Given the description of an element on the screen output the (x, y) to click on. 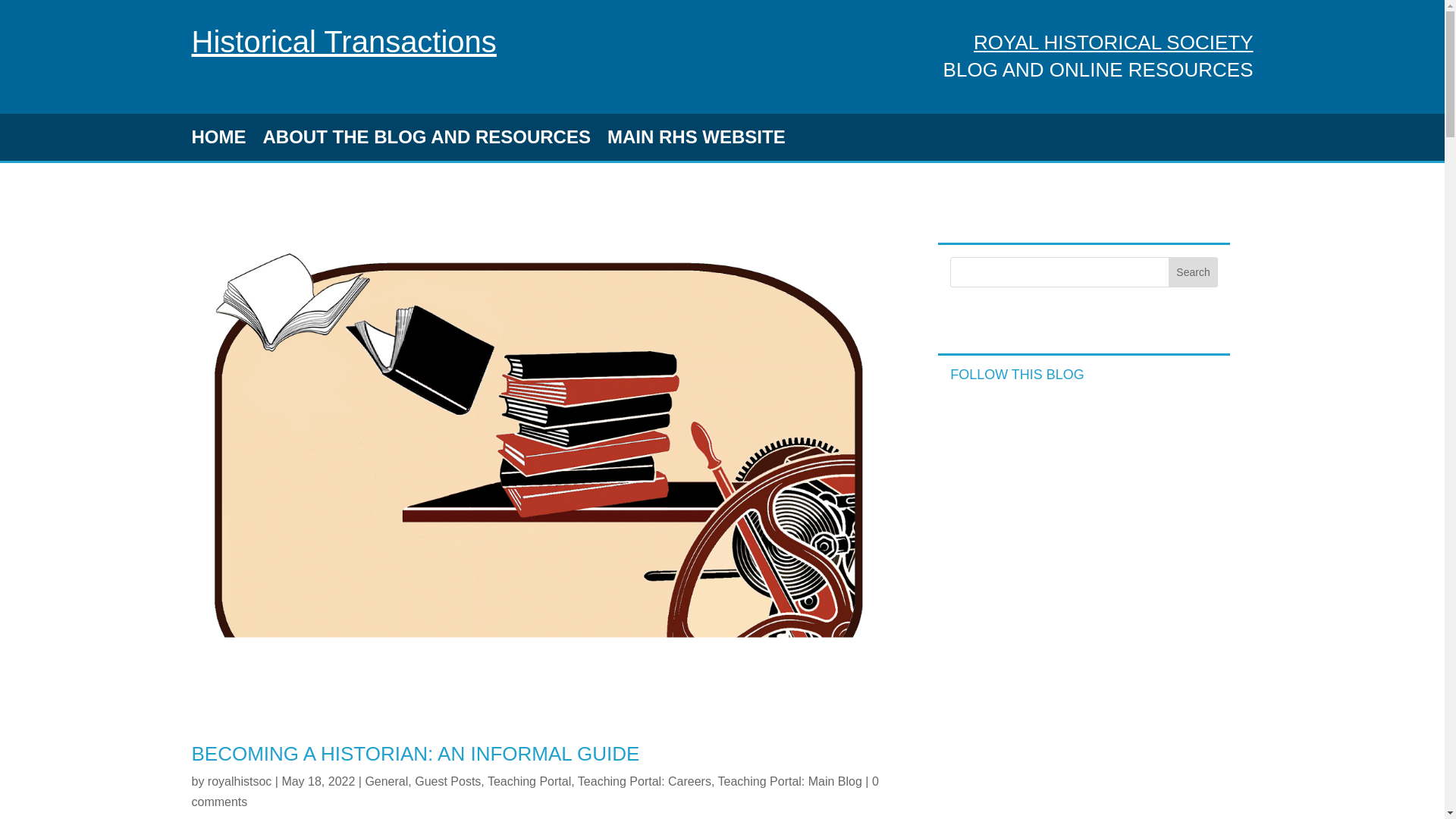
Guest Posts (447, 780)
ABOUT THE BLOG AND RESOURCES (425, 139)
General (386, 780)
Teaching Portal (528, 780)
royalhistsoc (239, 780)
Home (343, 41)
0 comments (533, 791)
MAIN RHS WEBSITE (696, 139)
ROYAL HISTORICAL SOCIETY (1113, 42)
Historical Transactions (343, 41)
